Given the description of an element on the screen output the (x, y) to click on. 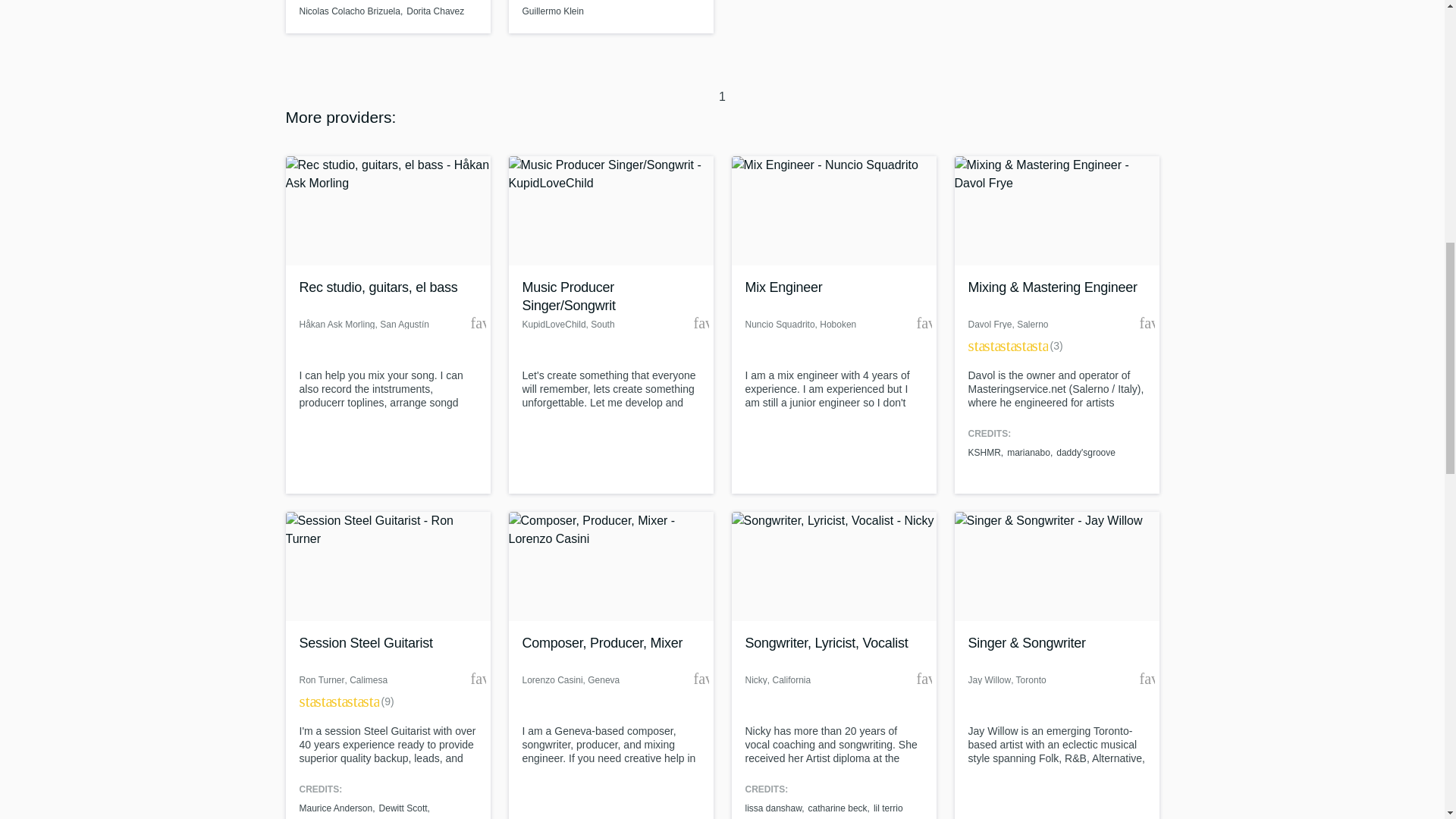
Add to favorites (1146, 322)
Add to favorites (923, 322)
Add to favorites (700, 322)
Add to favorites (477, 322)
Add to favorites (700, 678)
Add to favorites (477, 678)
